Given the description of an element on the screen output the (x, y) to click on. 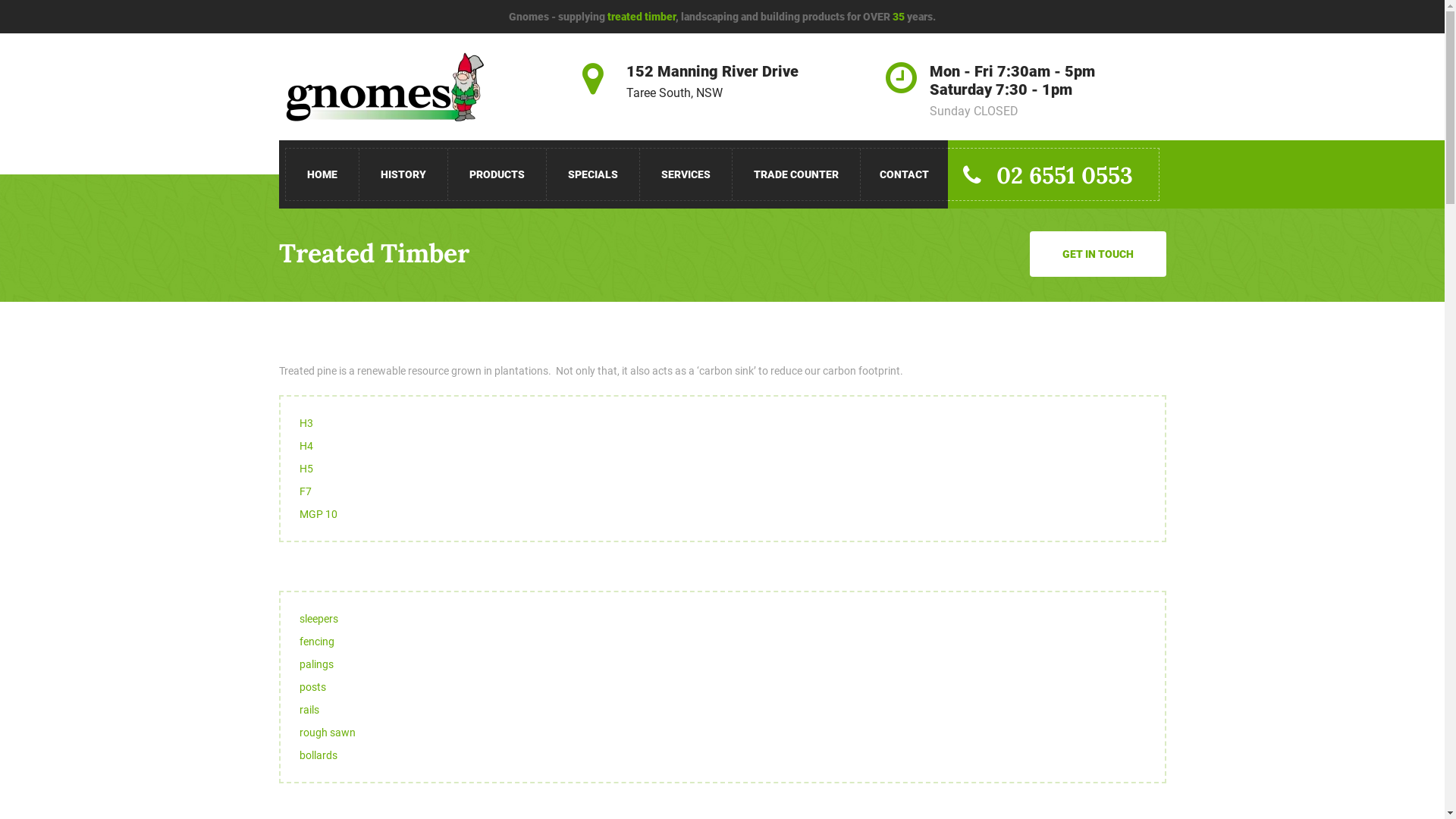
SERVICES Element type: text (686, 174)
PRODUCTS Element type: text (496, 174)
CONTACT Element type: text (903, 174)
GET IN TOUCH Element type: text (1097, 253)
02 6551 0553 Element type: text (1053, 173)
SPECIALS Element type: text (592, 174)
152 Manning River Drive
Taree South, NSW Element type: text (712, 82)
HOME Element type: text (321, 174)
TRADE COUNTER Element type: text (796, 174)
HISTORY Element type: text (403, 174)
